Given the description of an element on the screen output the (x, y) to click on. 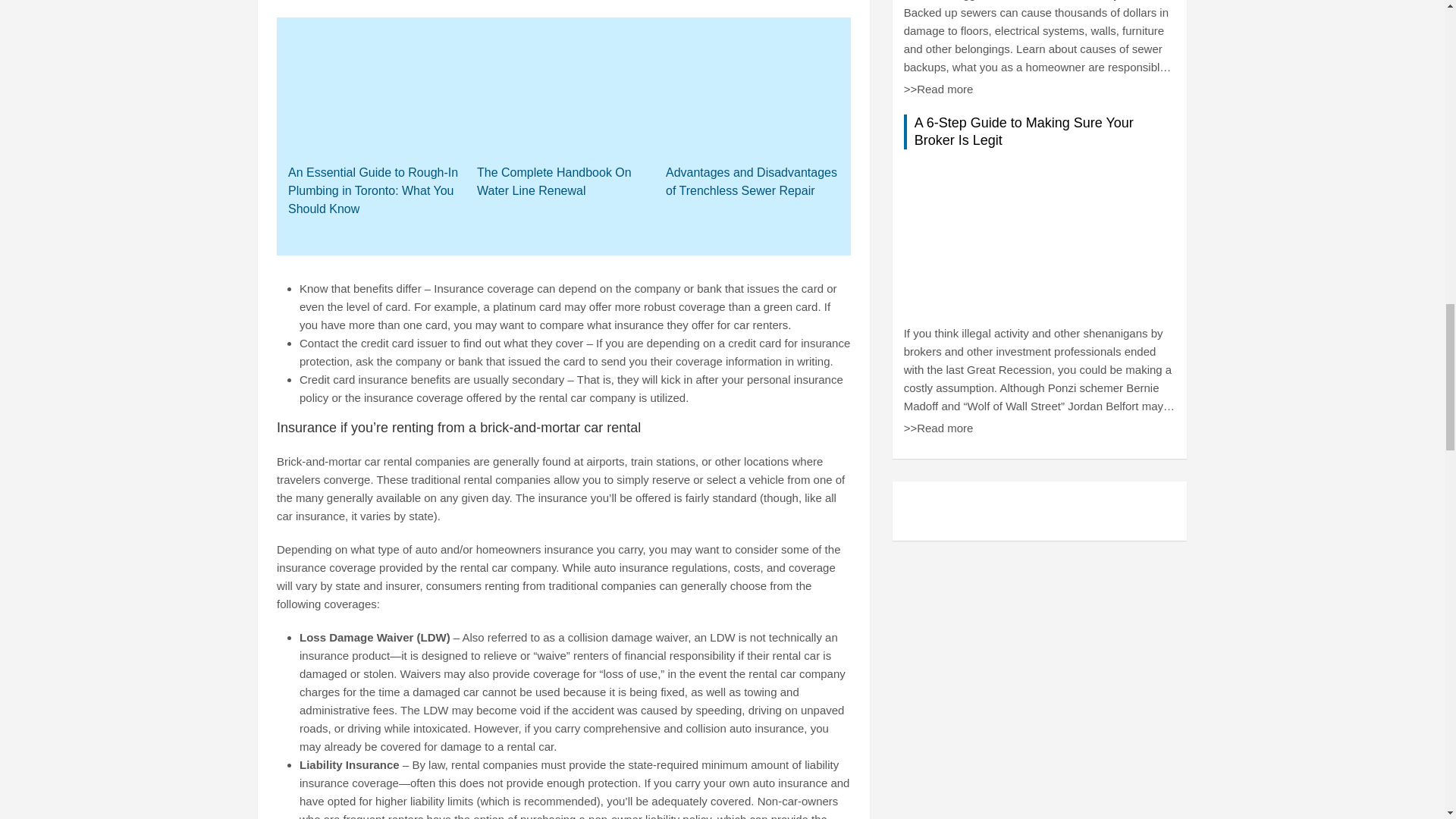
Advantages and Disadvantages of Trenchless Sewer Repair (752, 181)
The Complete Handbook On Water Line Renewal (563, 181)
